Given the description of an element on the screen output the (x, y) to click on. 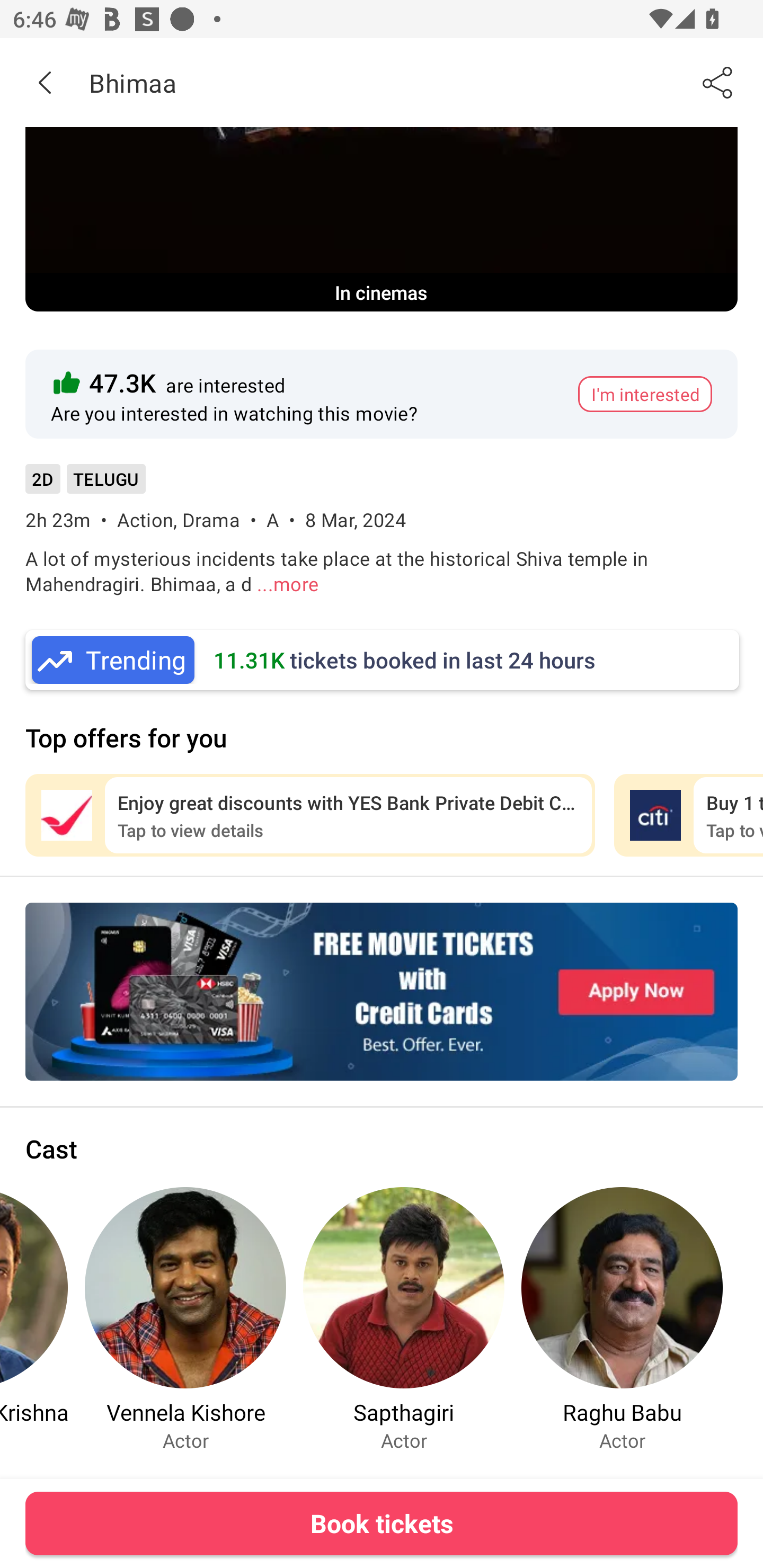
Back (44, 82)
Share (718, 82)
Movie Banner In cinemas (381, 219)
I'm interested (644, 394)
2D TELUGU (85, 485)
Vennela Kishore Actor (185, 1319)
Sapthagiri Actor (403, 1319)
Raghu Babu Actor (621, 1319)
Book tickets (381, 1523)
